Given the description of an element on the screen output the (x, y) to click on. 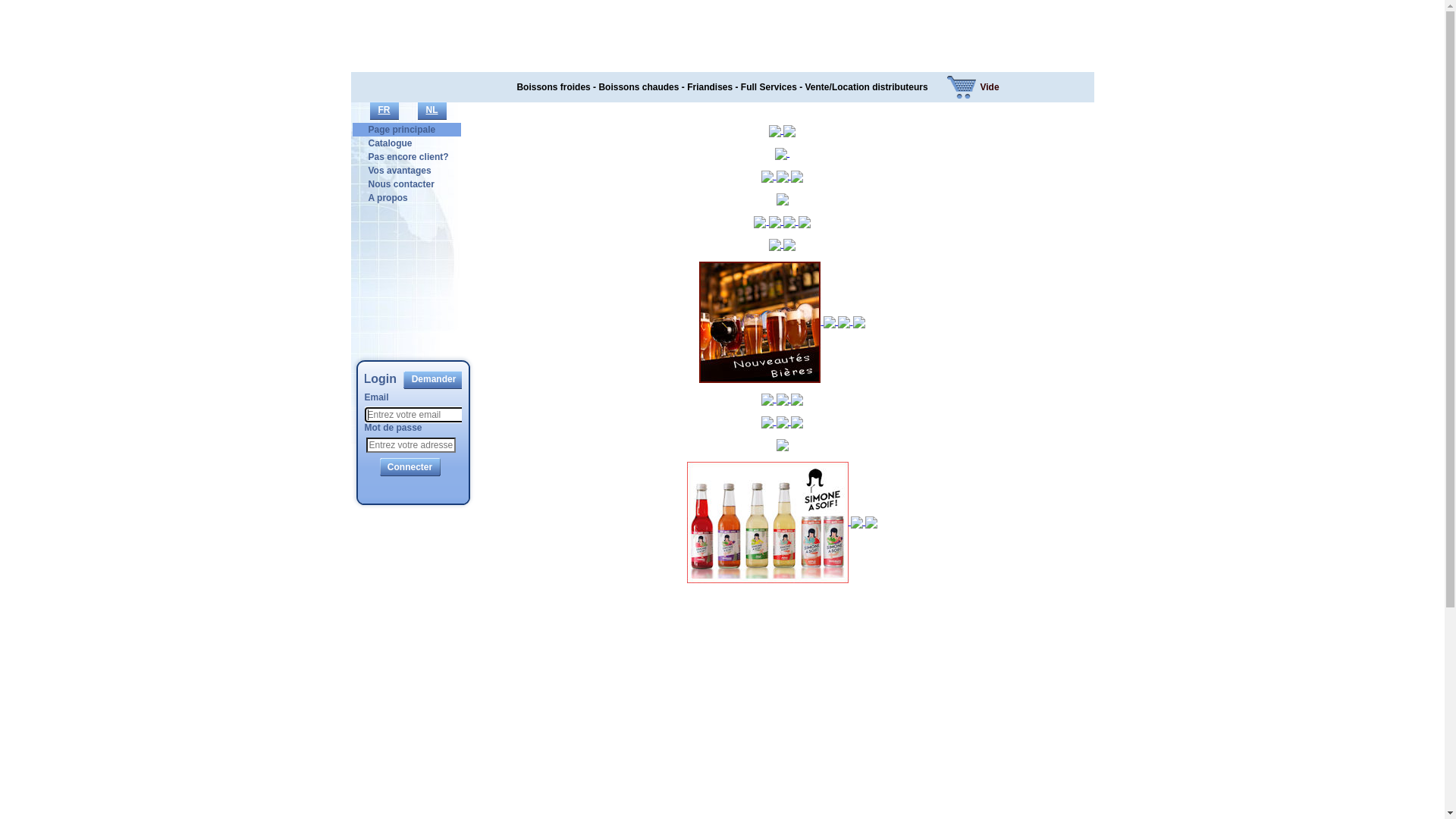
Connecter Element type: text (409, 467)
Vos avantages Element type: text (399, 170)
Pas encore client? Element type: text (408, 156)
Nous contacter Element type: text (401, 183)
Demander Element type: text (433, 379)
FR Element type: text (384, 110)
A propos Element type: text (387, 197)
NL Element type: text (431, 110)
Page principale Element type: text (402, 129)
Catalogue Element type: text (390, 143)
